Given the description of an element on the screen output the (x, y) to click on. 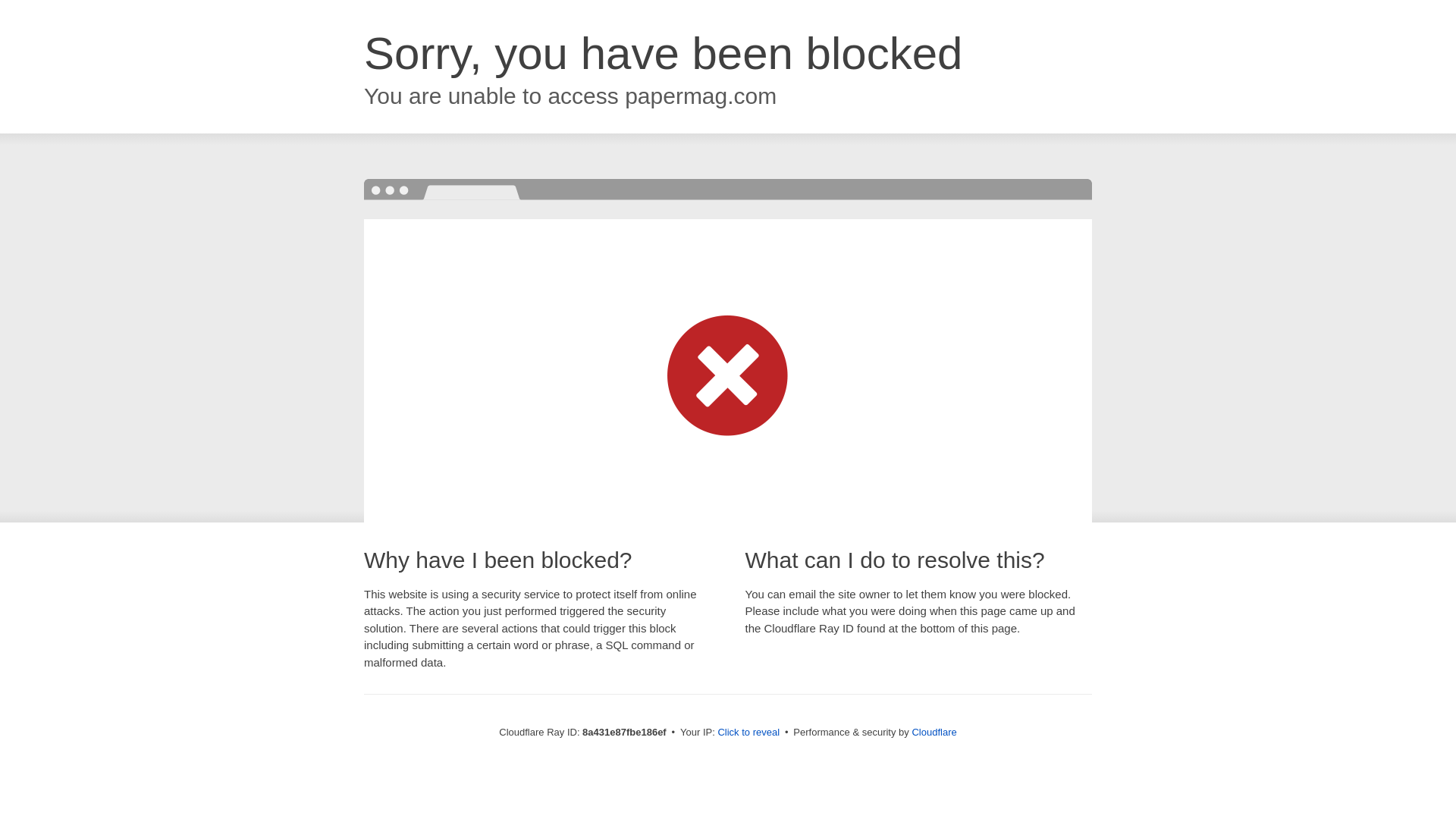
Click to reveal (747, 732)
Cloudflare (933, 731)
